Given the description of an element on the screen output the (x, y) to click on. 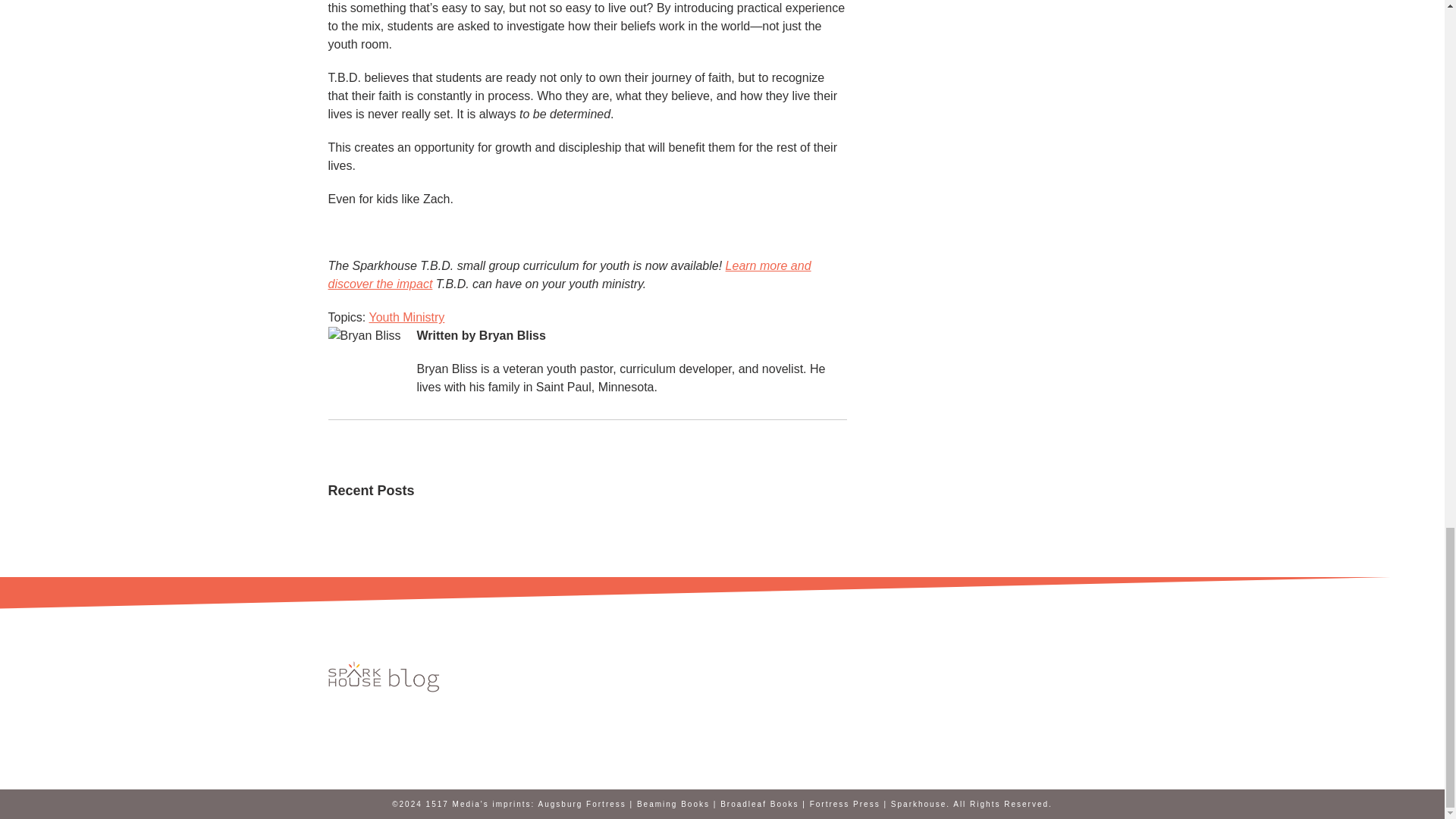
Sparkhouse Blog (384, 676)
Bryan Bliss (512, 335)
Youth Ministry (406, 317)
Learn more and discover the impact (568, 274)
